Given the description of an element on the screen output the (x, y) to click on. 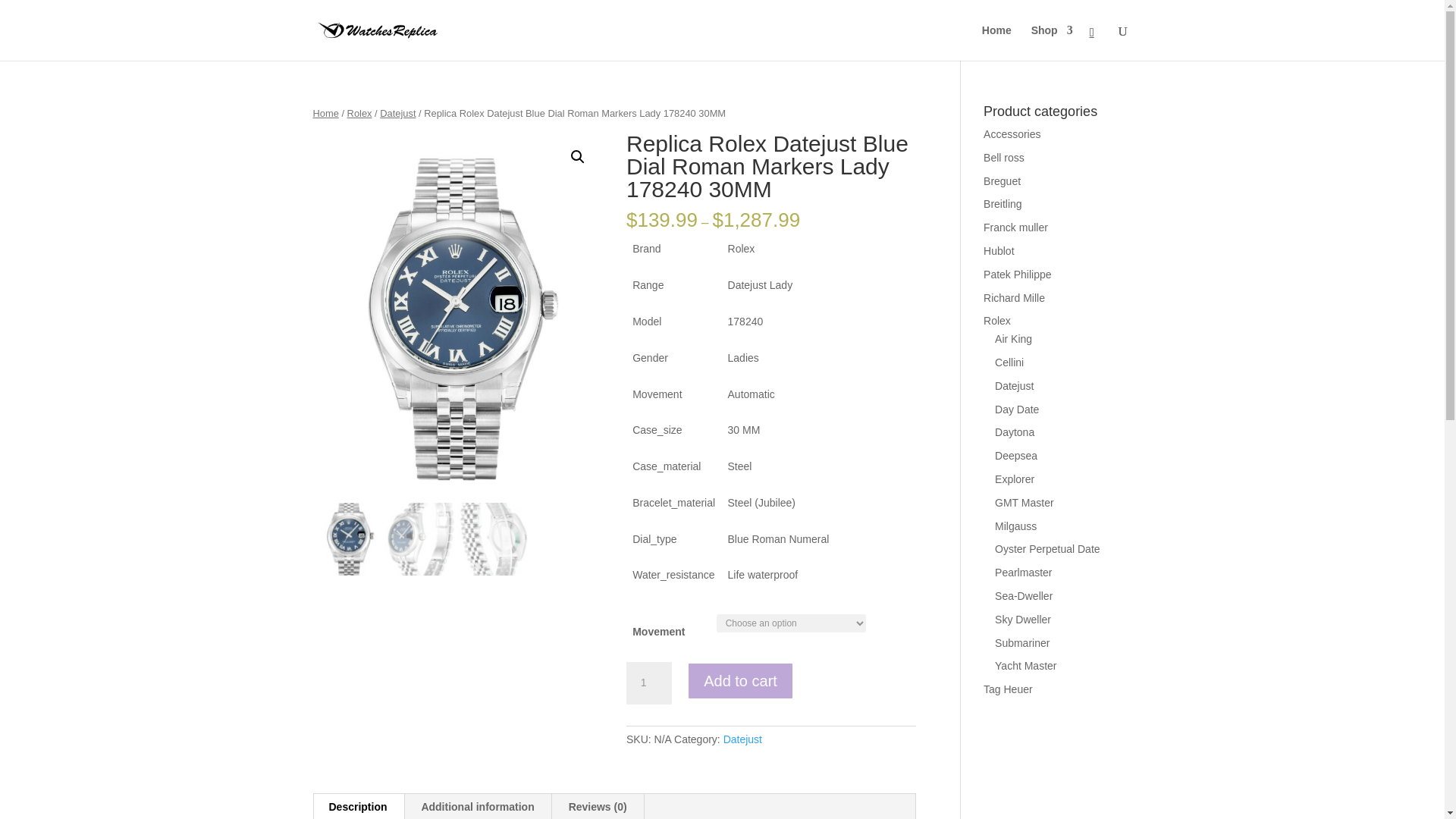
Rolex (359, 112)
Bell ross (1004, 157)
Add to cart (740, 680)
Datejust (742, 739)
Shop (1051, 42)
Datejust (397, 112)
Home (996, 42)
1 (648, 682)
Accessories (1012, 133)
RolexDatejust86.jpg (457, 317)
Breguet (1002, 181)
Additional information (477, 806)
Description (358, 806)
Home (325, 112)
